Given the description of an element on the screen output the (x, y) to click on. 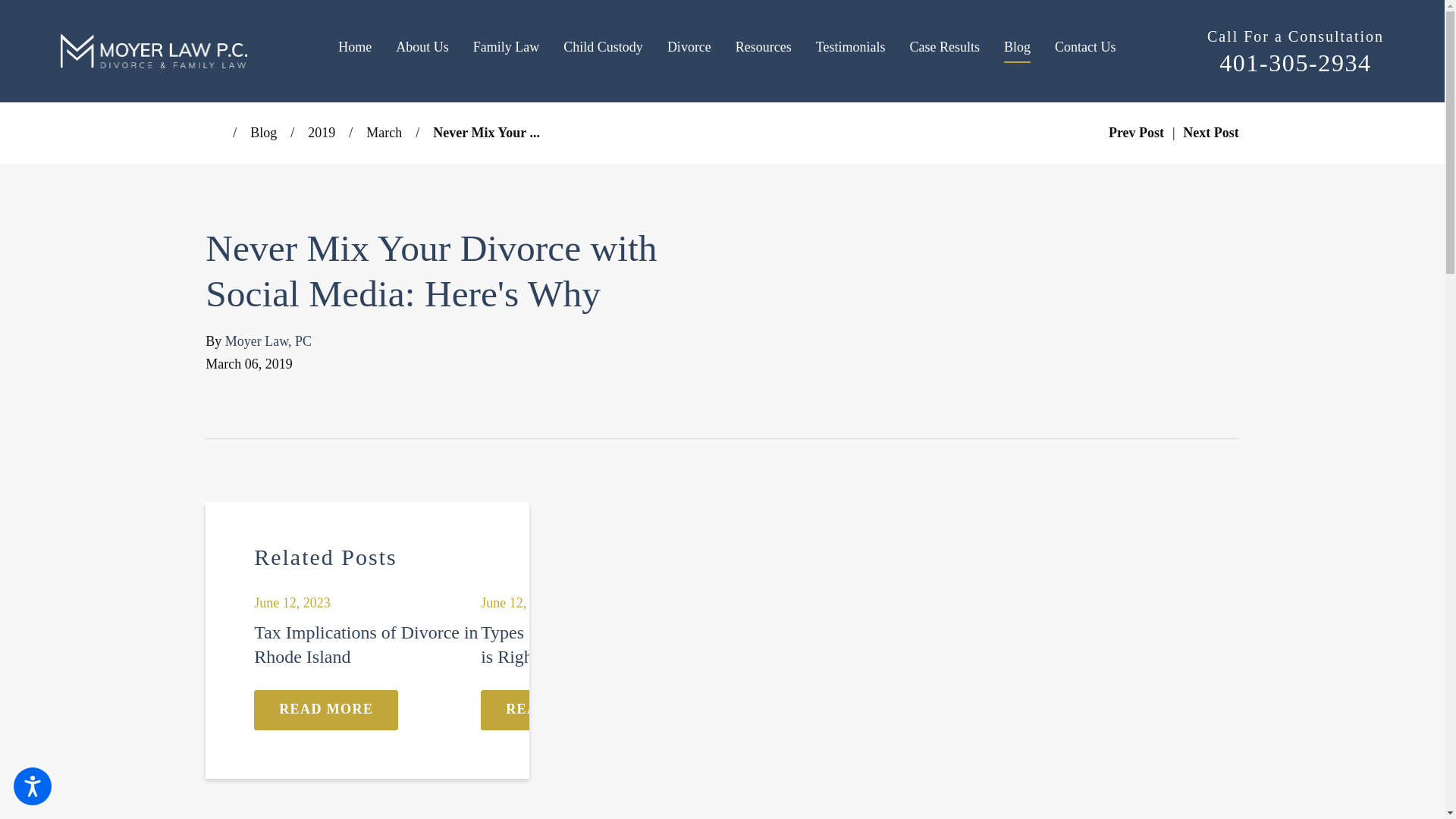
Open the accessibility options menu (31, 786)
Go Home (218, 132)
Divorce (689, 51)
Family Law (506, 51)
Home (360, 51)
Child Custody (603, 51)
About Us (422, 51)
Moyer Law, PC (154, 50)
